Given the description of an element on the screen output the (x, y) to click on. 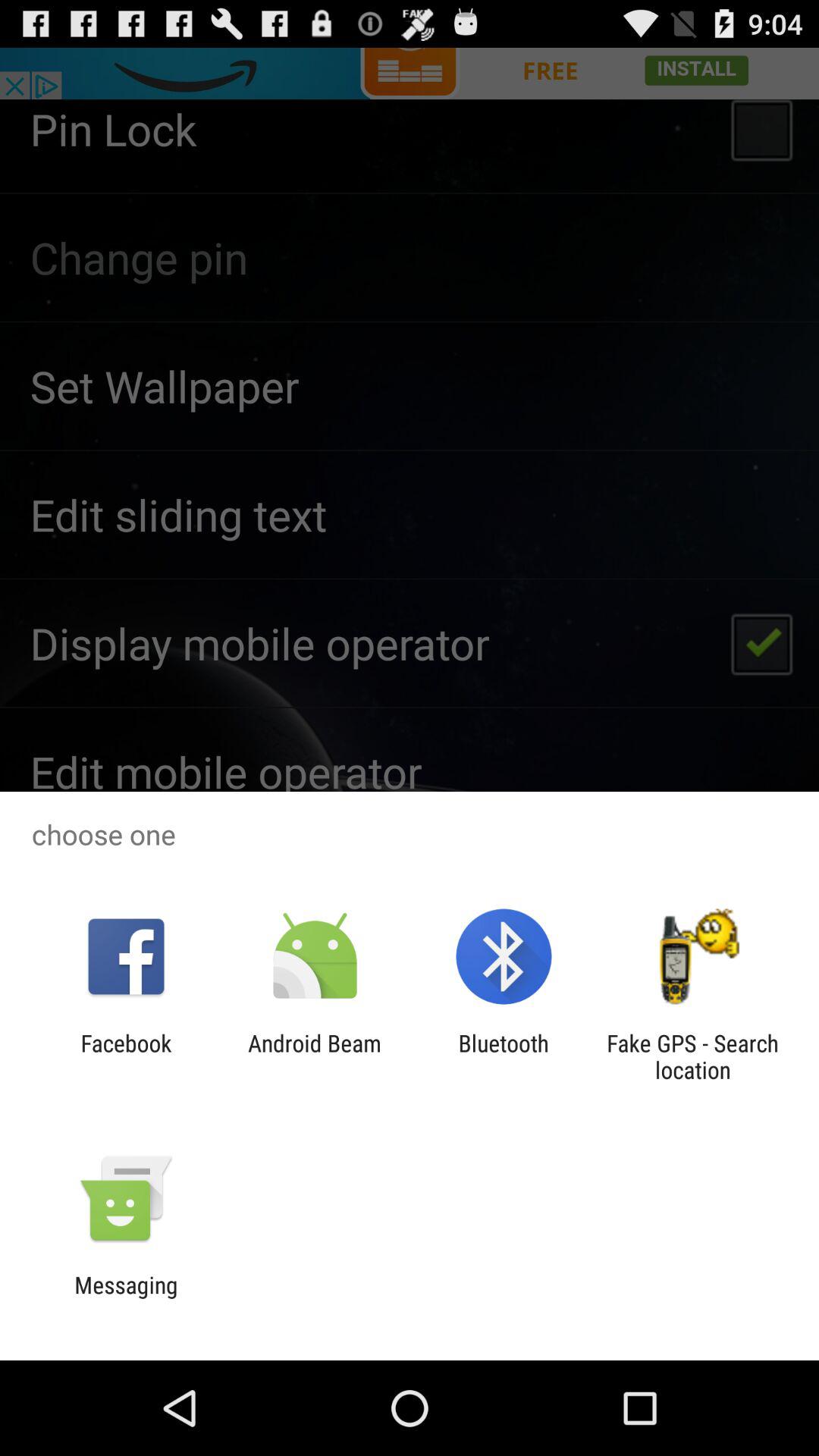
swipe until bluetooth item (503, 1056)
